Given the description of an element on the screen output the (x, y) to click on. 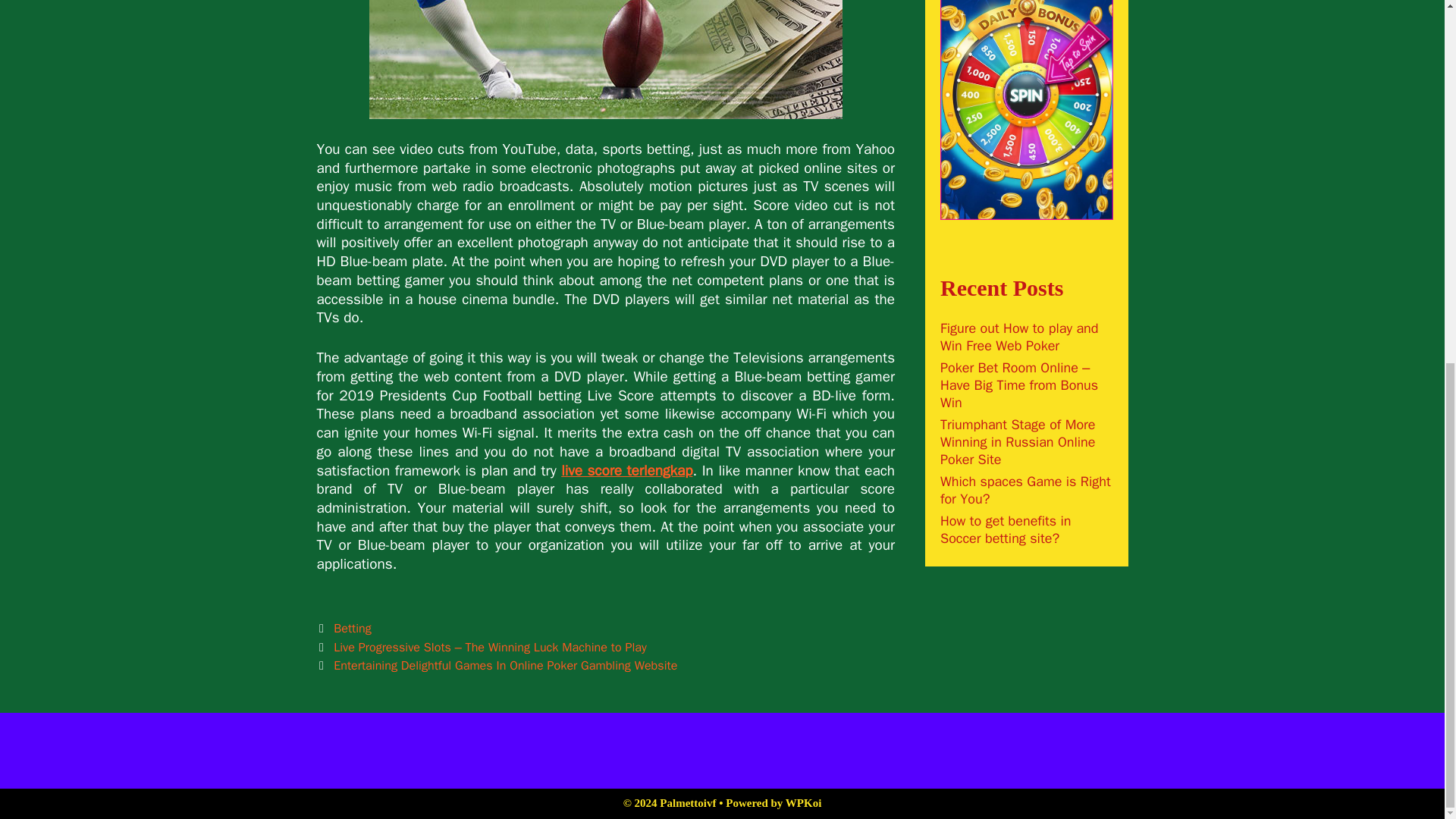
live score terlengkap (626, 470)
WPKoi (804, 802)
Next (497, 665)
Which spaces Game is Right for You? (1025, 489)
Betting (352, 627)
Figure out How to play and Win Free Web Poker (1019, 336)
Previous (481, 647)
How to get benefits in Soccer betting site? (1005, 529)
